Given the description of an element on the screen output the (x, y) to click on. 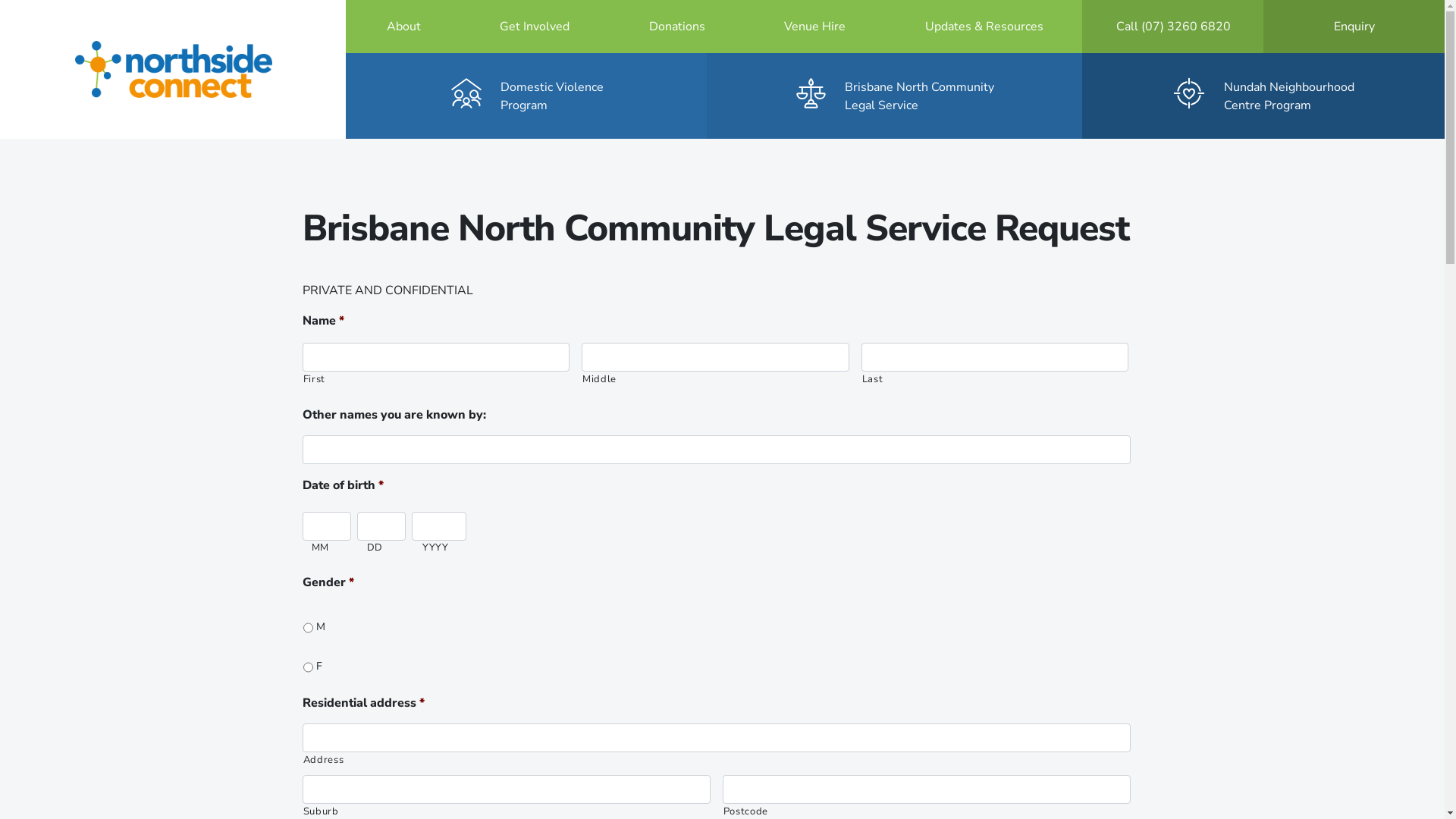
Donations Element type: text (676, 26)
Venue Hire Element type: text (814, 26)
Call (07) 3260 6820 Element type: text (1173, 26)
Domestic Violence
Program Element type: text (526, 95)
Brisbane North Community
Legal Service Element type: text (894, 95)
Nundah Neighbourhood
Centre Program Element type: text (1263, 95)
Updates & Resources Element type: text (984, 26)
About Element type: text (403, 26)
Enquiry Element type: text (1354, 26)
Get Involved Element type: text (534, 26)
